Given the description of an element on the screen output the (x, y) to click on. 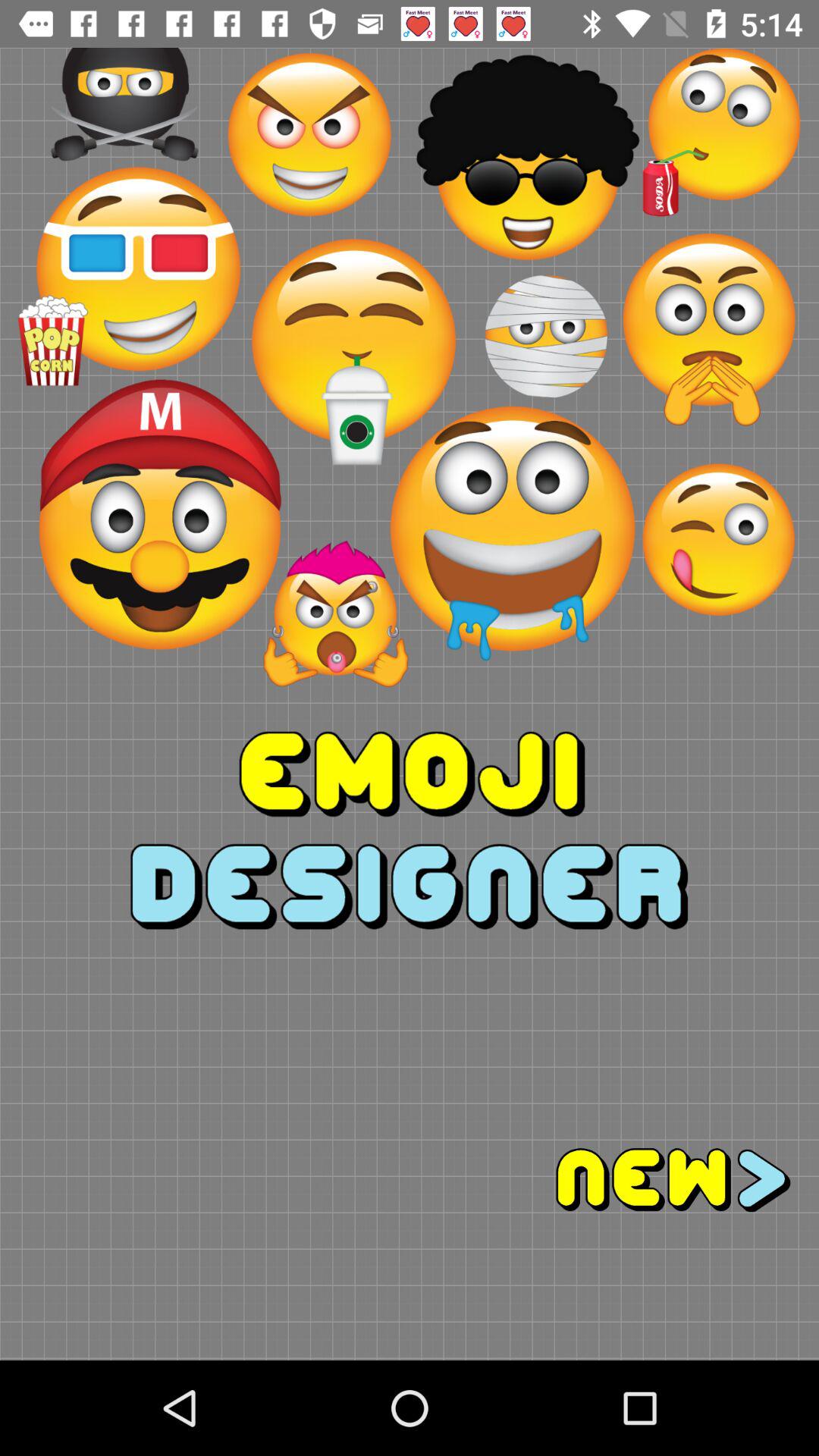
click the next option (614, 1180)
